Given the description of an element on the screen output the (x, y) to click on. 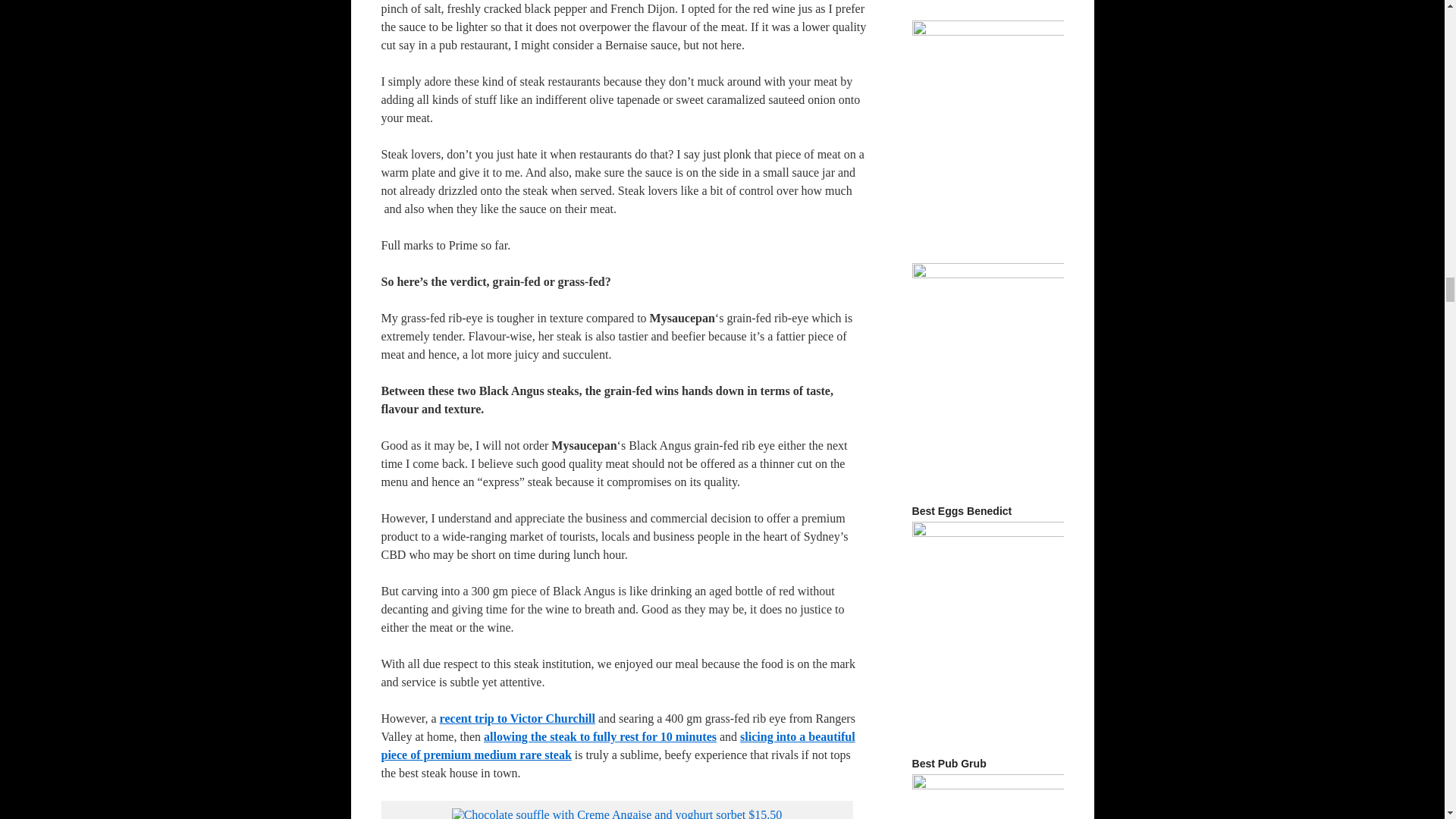
recent trip to Victor Churchill (517, 717)
slicing into a beautiful piece of premium medium rare steak (617, 745)
allowing the steak to fully rest for 10 minutes (599, 736)
